Given the description of an element on the screen output the (x, y) to click on. 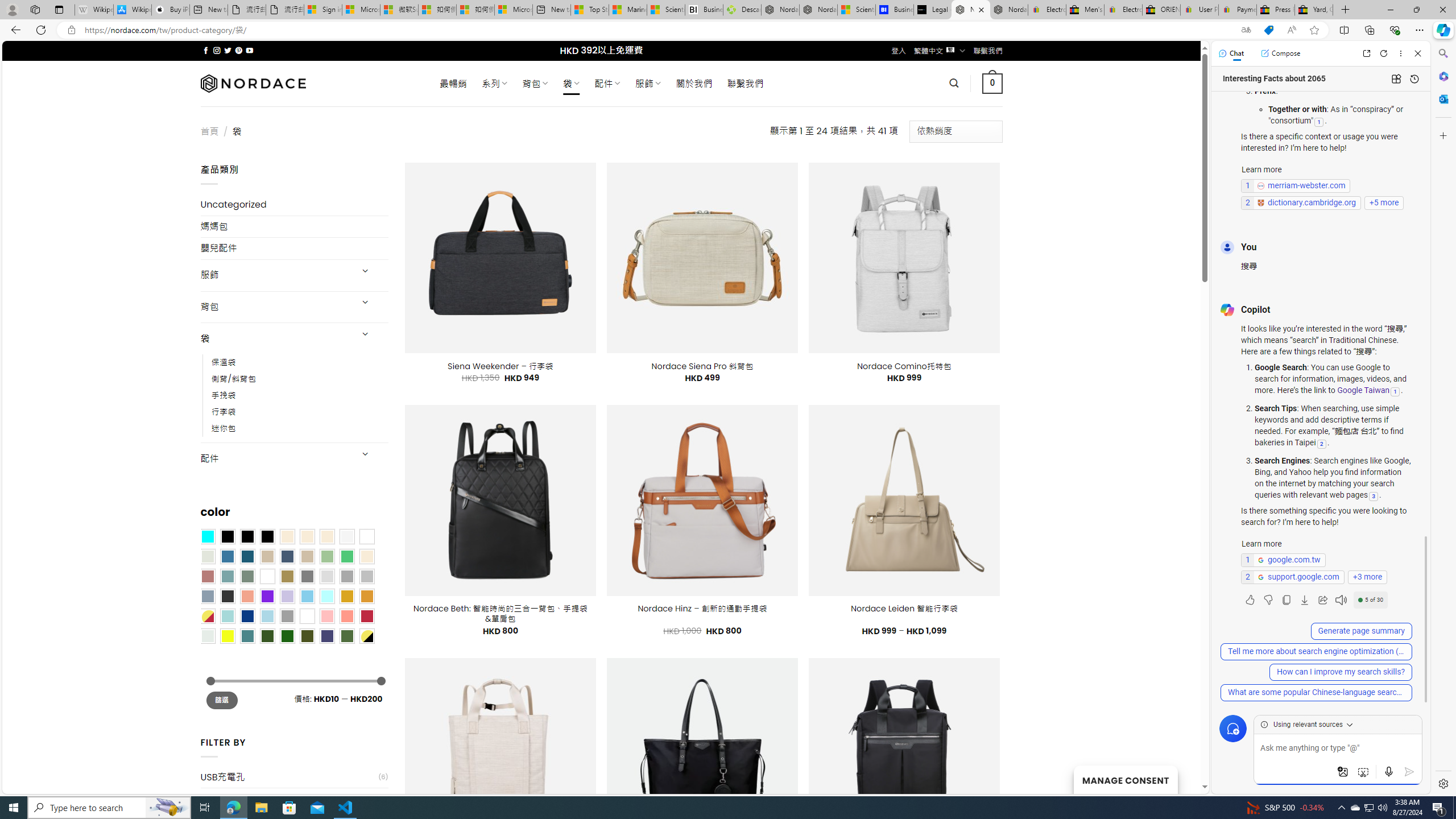
Minimize Search pane (1442, 53)
Follow on Instagram (216, 50)
User Privacy Notice | eBay (1198, 9)
